Given the description of an element on the screen output the (x, y) to click on. 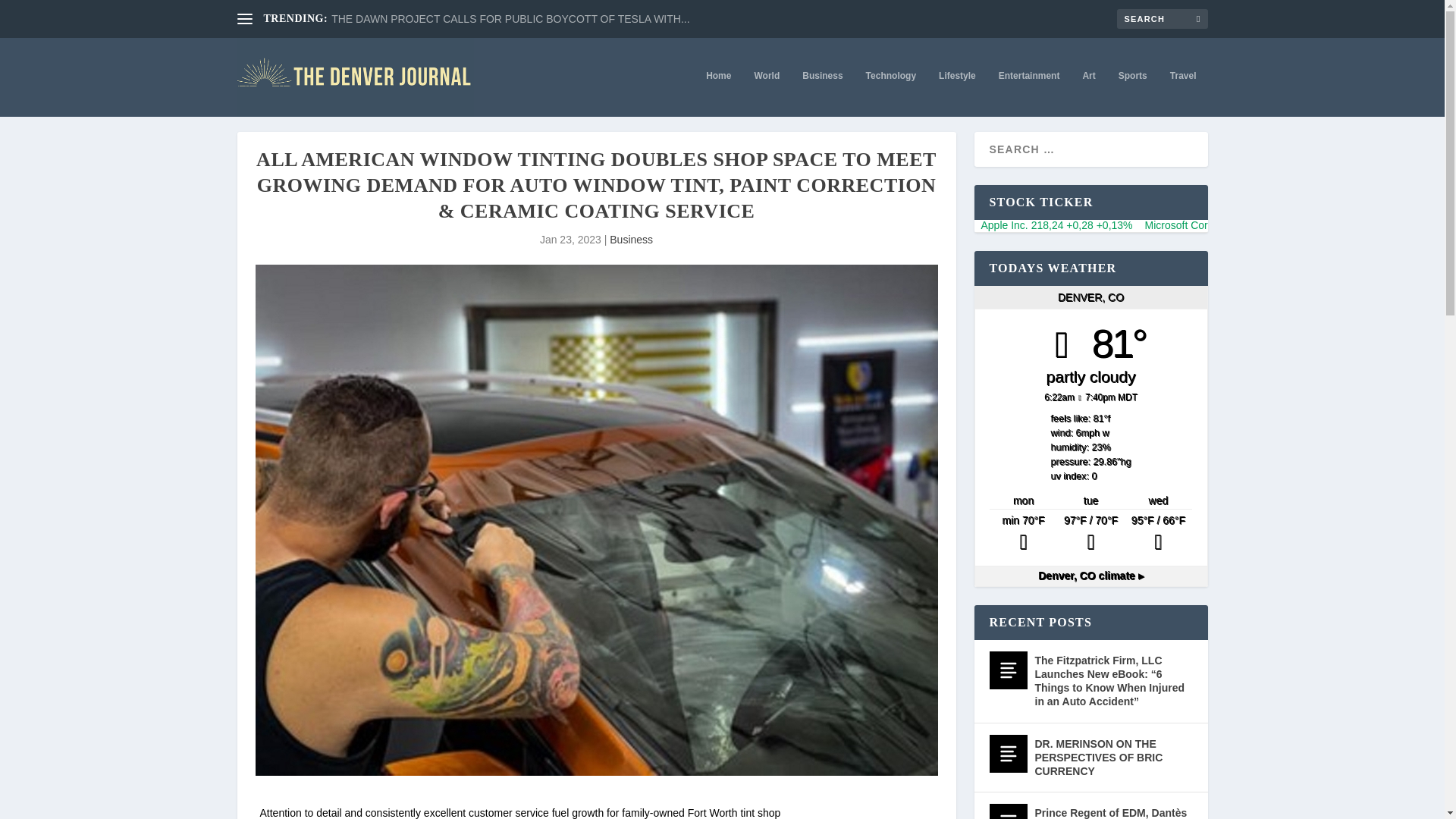
Entertainment (1028, 93)
Search for: (1161, 18)
Business (631, 239)
THE DAWN PROJECT CALLS FOR PUBLIC BOYCOTT OF TESLA WITH... (509, 19)
Technology (890, 93)
